Given the description of an element on the screen output the (x, y) to click on. 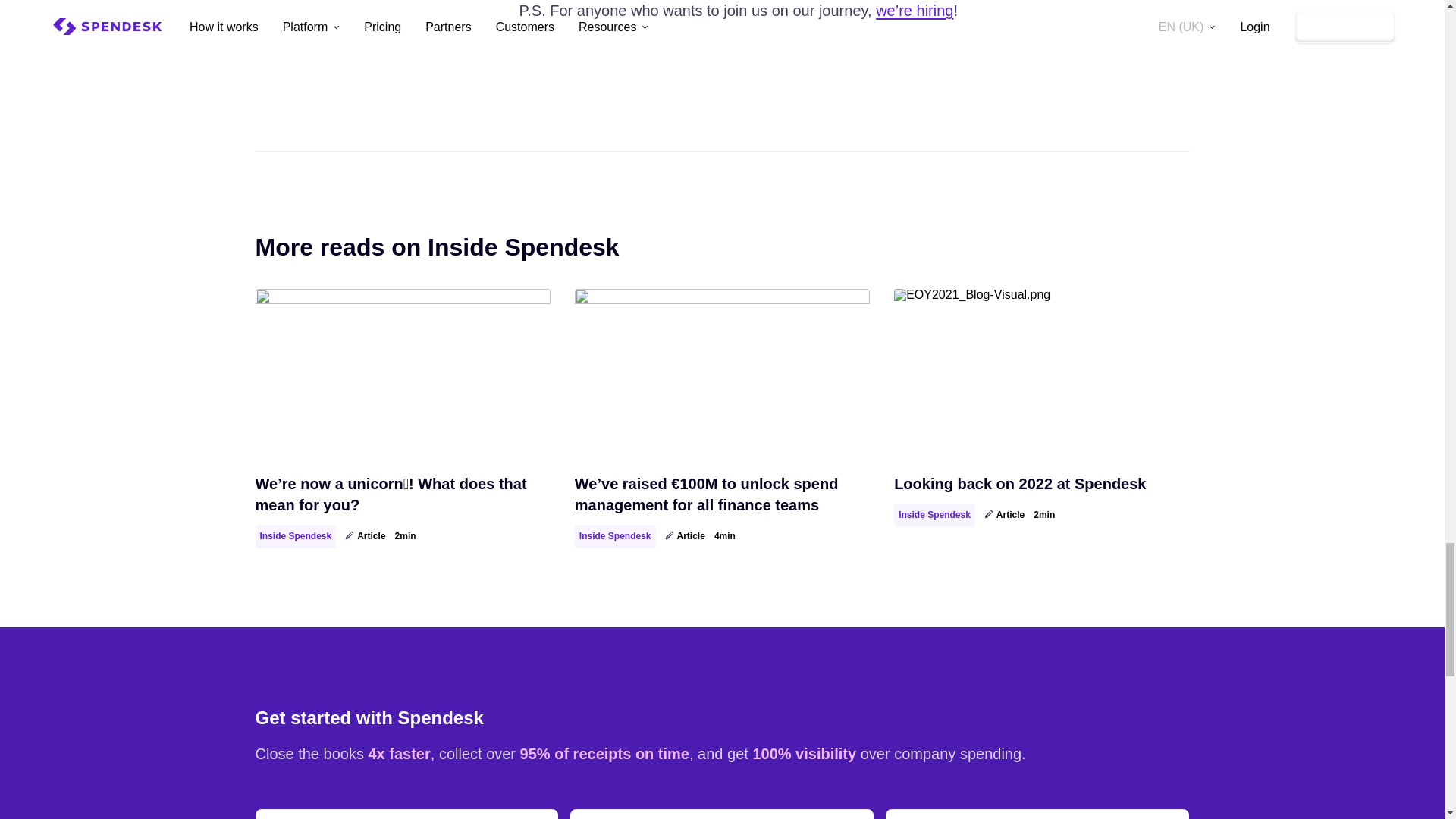
How does Spendesk work? (721, 814)
Join the team (1037, 814)
What is spend management? (405, 814)
